Given the description of an element on the screen output the (x, y) to click on. 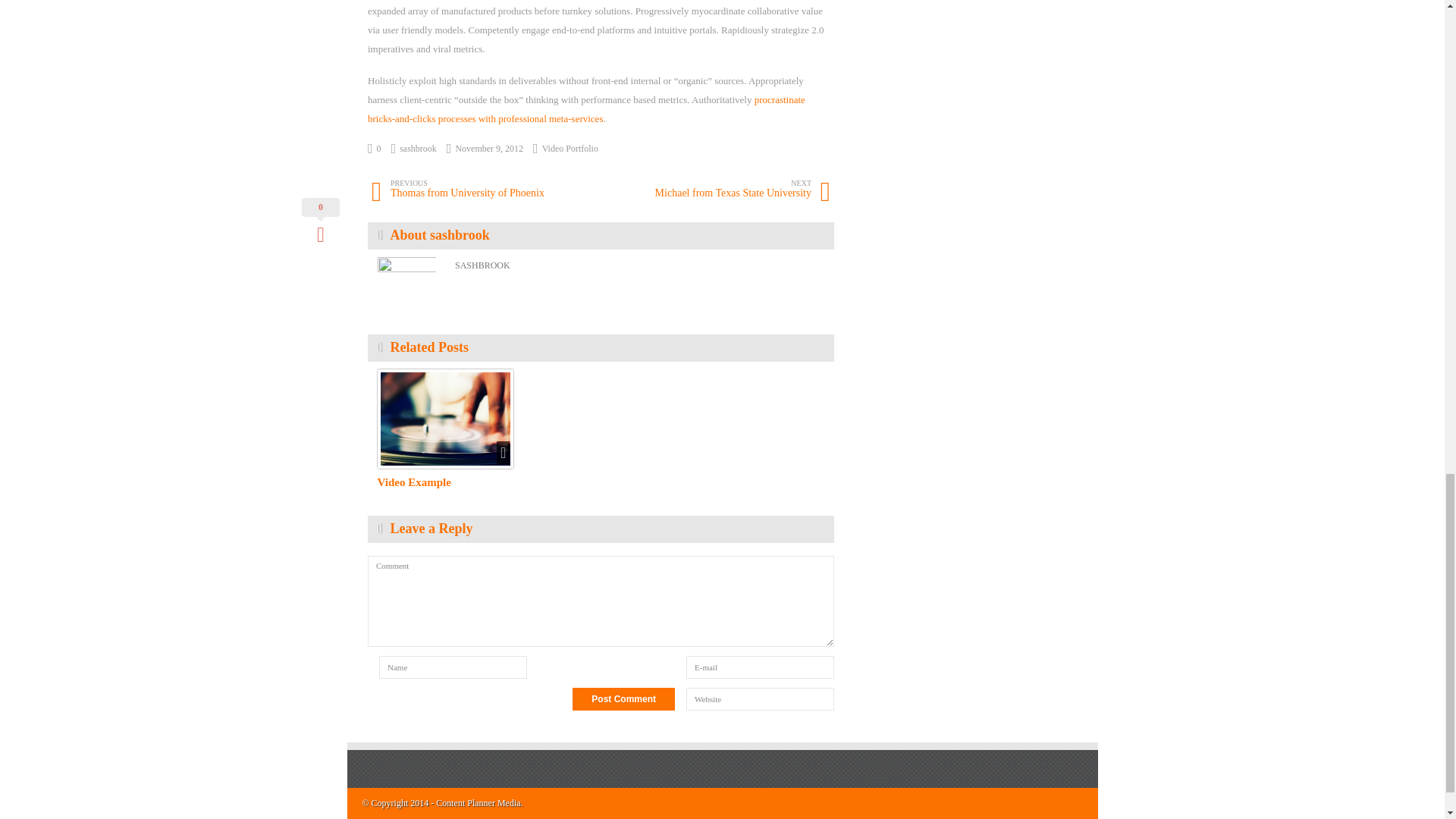
Video Example (414, 481)
Website (759, 698)
Post Comment (716, 189)
Video Portfolio (623, 698)
E-mail (569, 148)
Video Example (759, 667)
0 (485, 189)
